Given the description of an element on the screen output the (x, y) to click on. 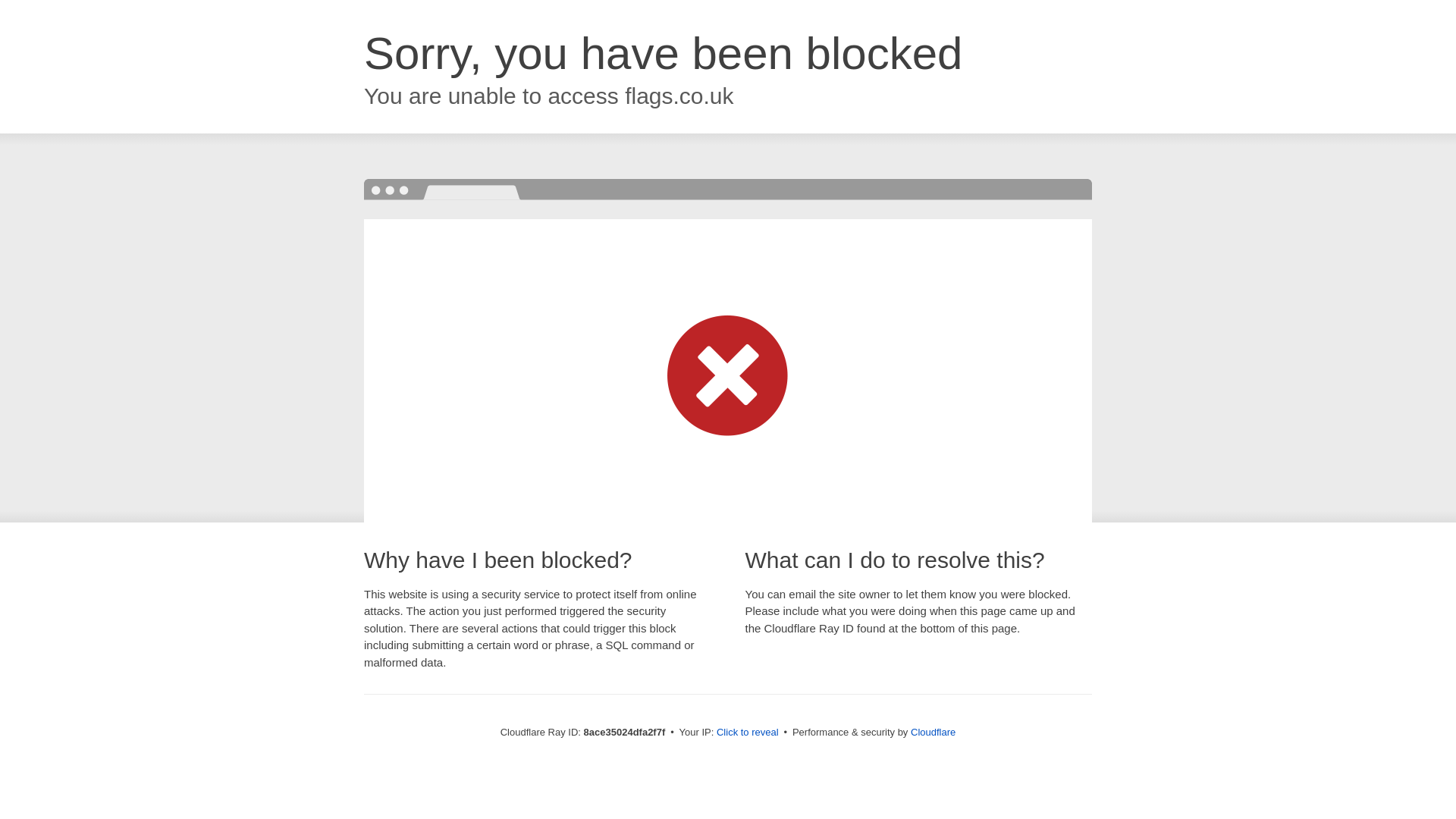
Click to reveal (749, 732)
Cloudflare (935, 731)
